Given the description of an element on the screen output the (x, y) to click on. 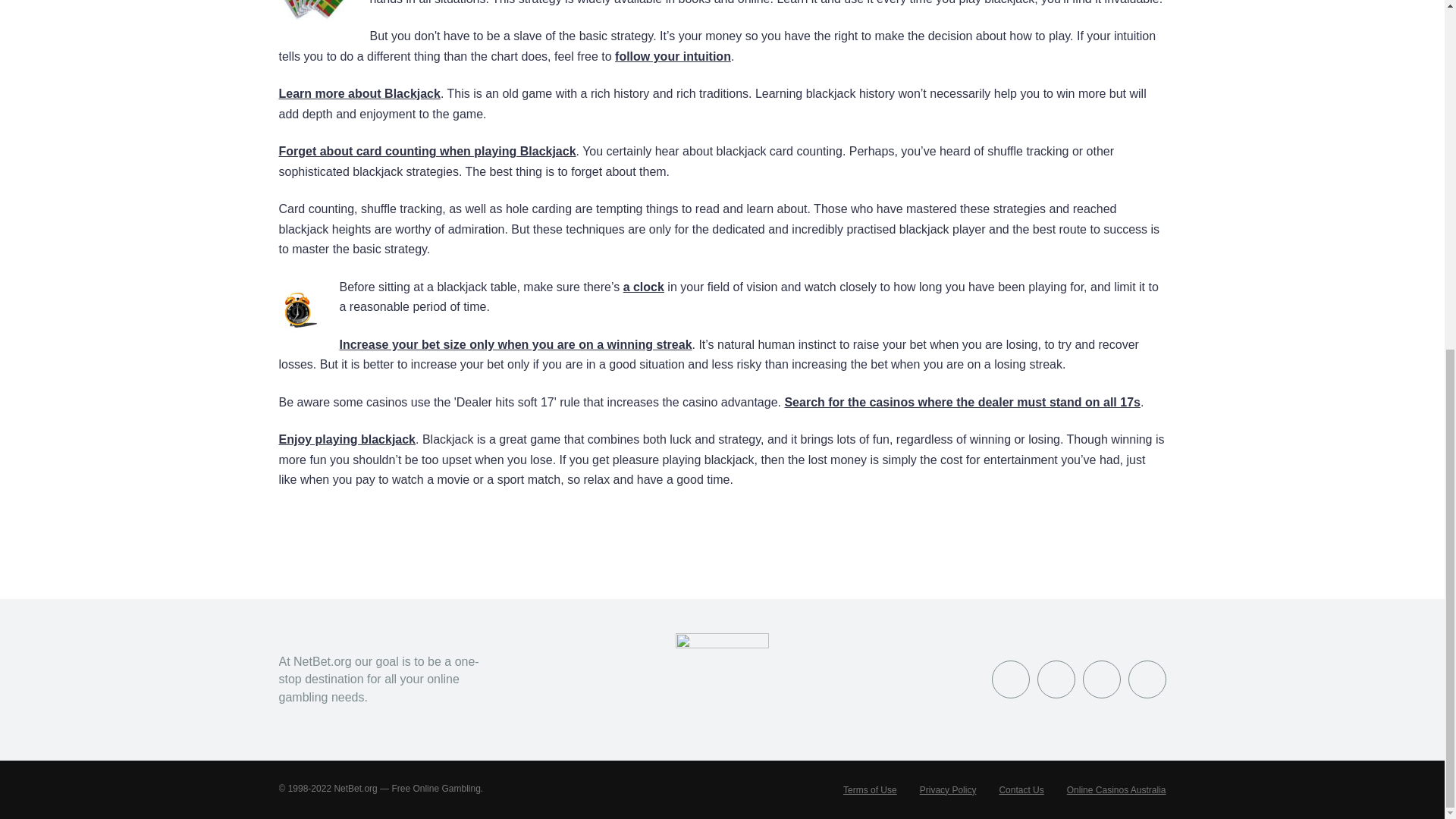
YouTube (1102, 679)
Cards (324, 17)
Contact Us (1020, 789)
Privacy Policy (948, 789)
Facebook (1010, 679)
Google Plus (1147, 679)
Online Casinos Australia (1116, 789)
Twitter (1055, 679)
Terms of Use (869, 789)
